Given the description of an element on the screen output the (x, y) to click on. 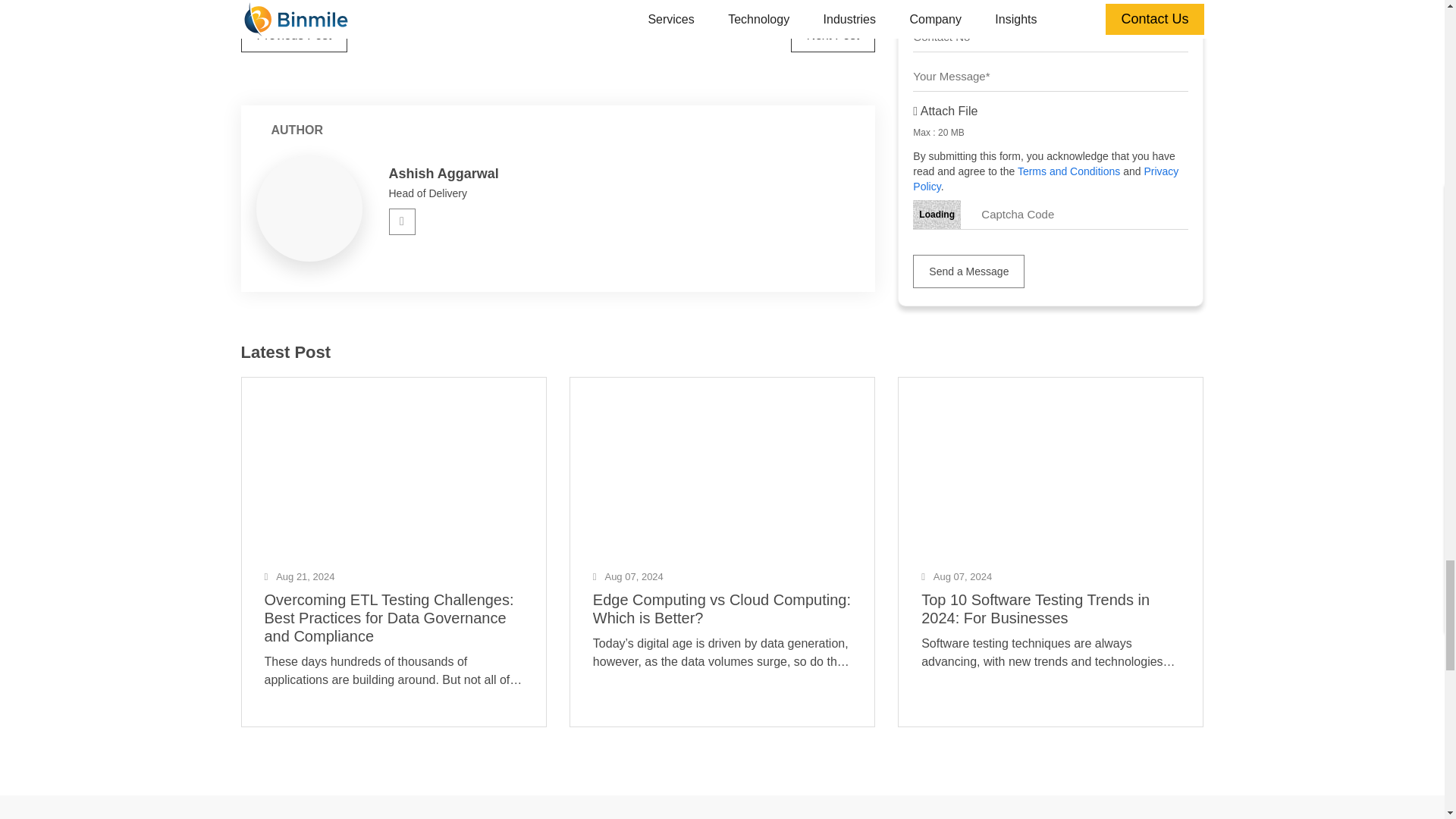
Top 10 Software Testing Trends in 2024: For Businesses (1050, 460)
Edge Computing vs Cloud Computing: Which is Better? (722, 460)
LinkedIn (401, 221)
